Given the description of an element on the screen output the (x, y) to click on. 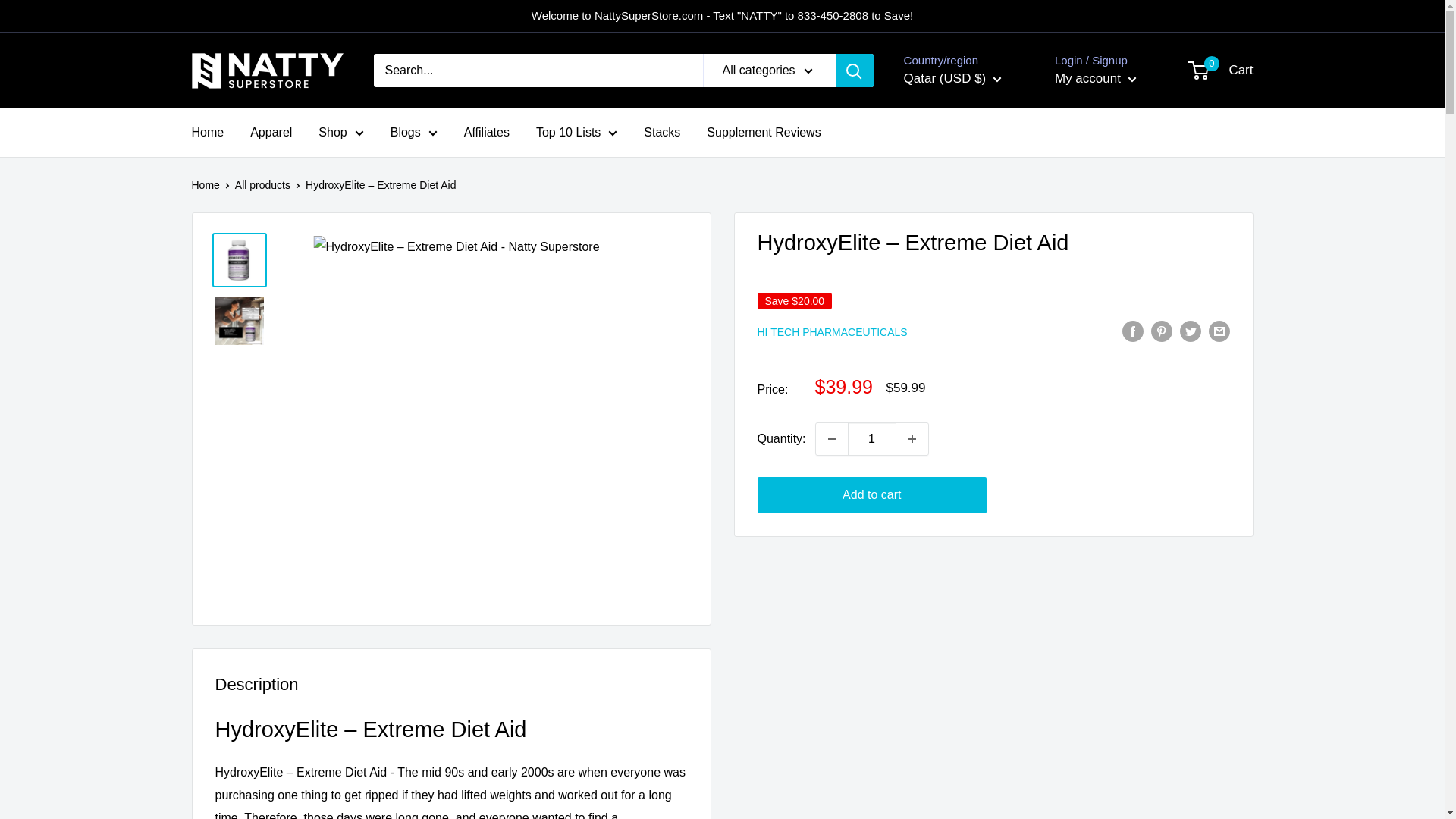
1 (871, 439)
Decrease quantity by 1 (831, 439)
Increase quantity by 1 (912, 439)
